Given the description of an element on the screen output the (x, y) to click on. 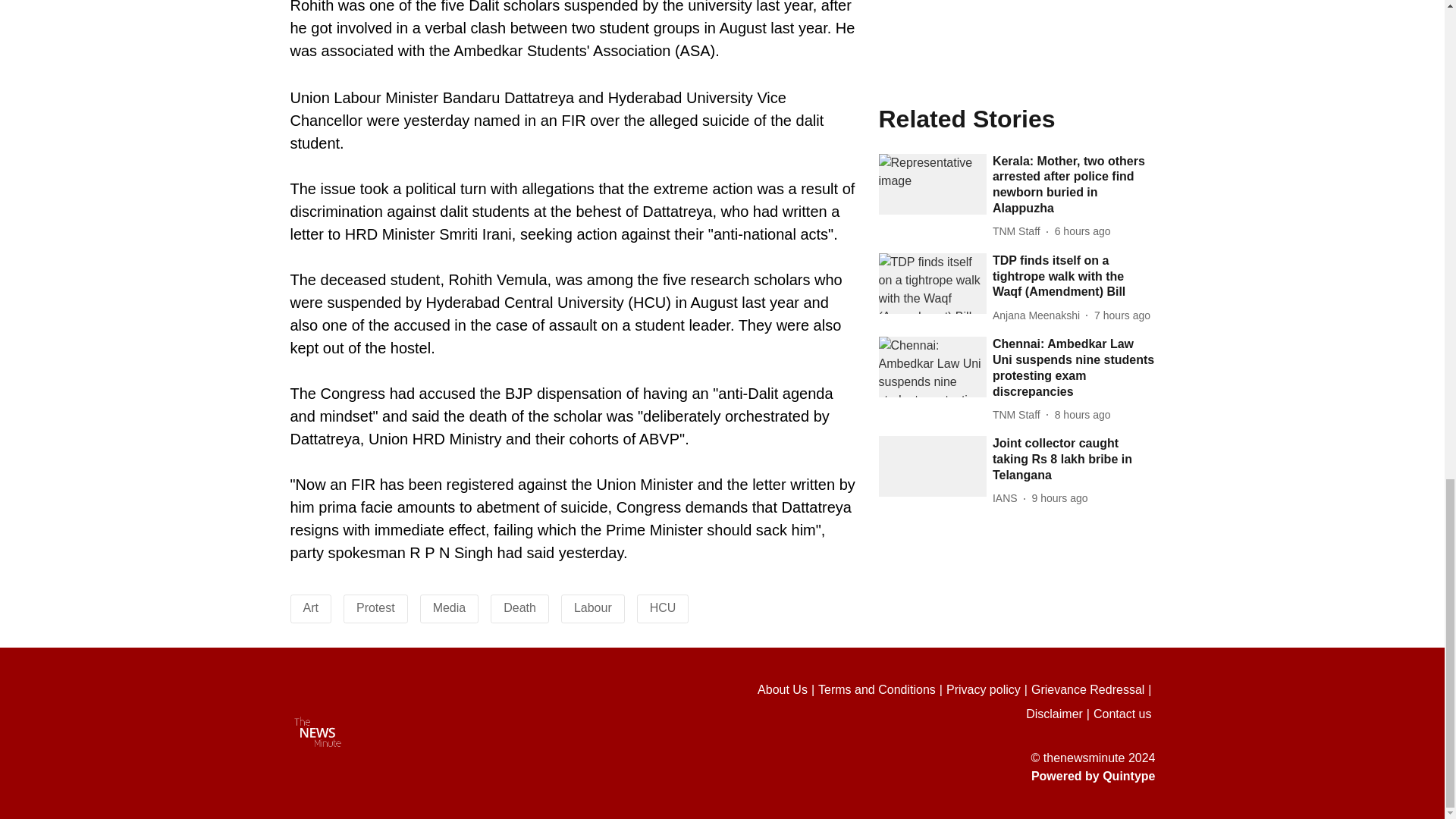
Protest (375, 607)
Art (310, 607)
Labour (592, 607)
Death (519, 607)
Media (448, 607)
HCU (663, 607)
